Given the description of an element on the screen output the (x, y) to click on. 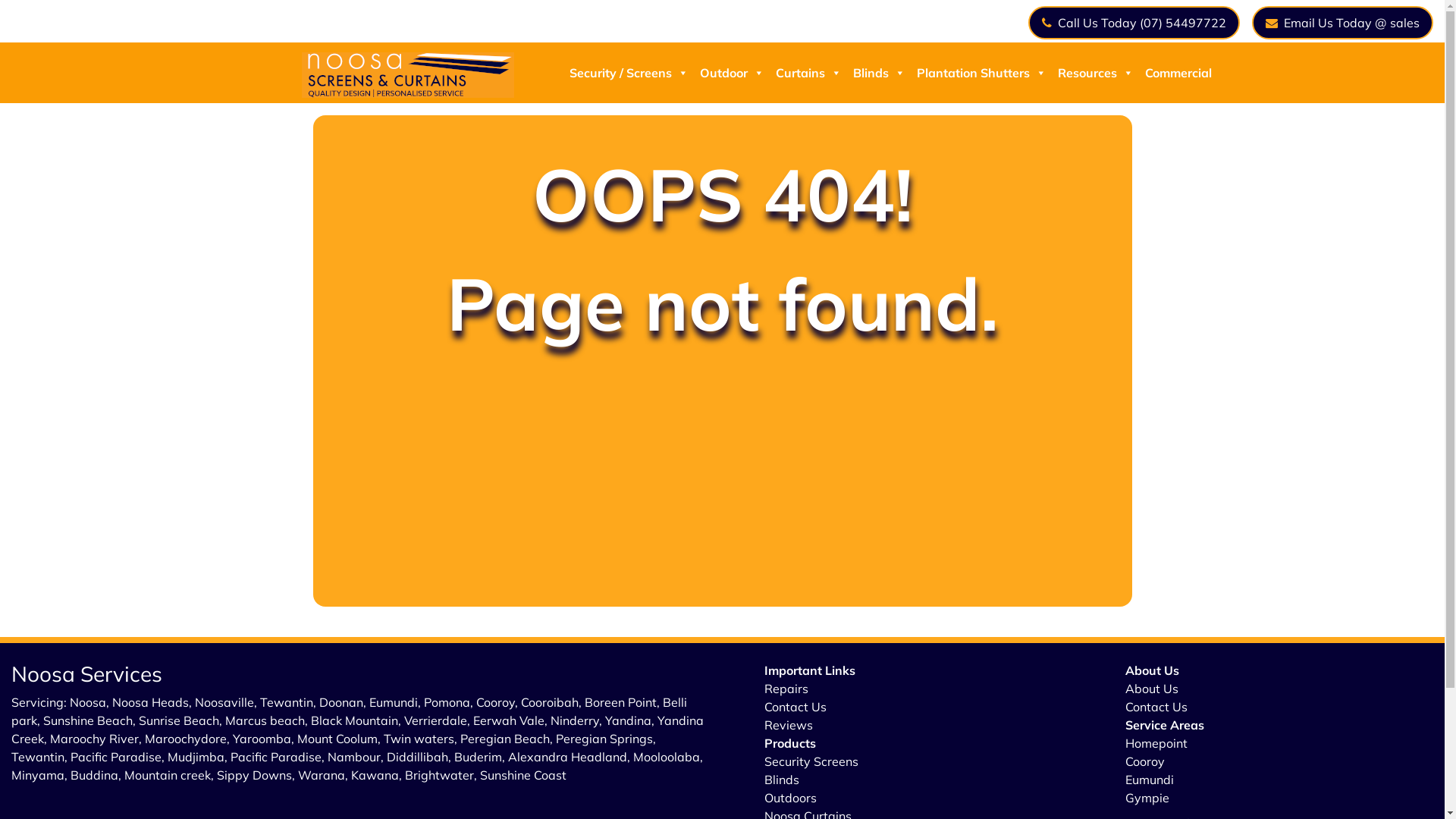
Security / Screens Element type: text (626, 72)
Blinds Element type: text (877, 72)
Gympie Element type: text (1147, 797)
Email Us Today @ sales Element type: text (1342, 22)
Homepoint Element type: text (1156, 742)
Repairs Element type: text (786, 688)
About Us Element type: text (1151, 688)
Security Screens Element type: text (811, 760)
Resources Element type: text (1093, 72)
Contact Us Element type: text (795, 706)
Cooroy Element type: text (1144, 760)
Blinds Element type: text (781, 779)
Call Us Today (07) 54497722 Element type: text (1133, 22)
Reviews Element type: text (788, 724)
Outdoors Element type: text (790, 797)
Curtains Element type: text (806, 72)
Eumundi Element type: text (1149, 779)
Contact Us Element type: text (1156, 706)
Commercial Element type: text (1175, 72)
Plantation Shutters Element type: text (979, 72)
Outdoor Element type: text (730, 72)
